Given the description of an element on the screen output the (x, y) to click on. 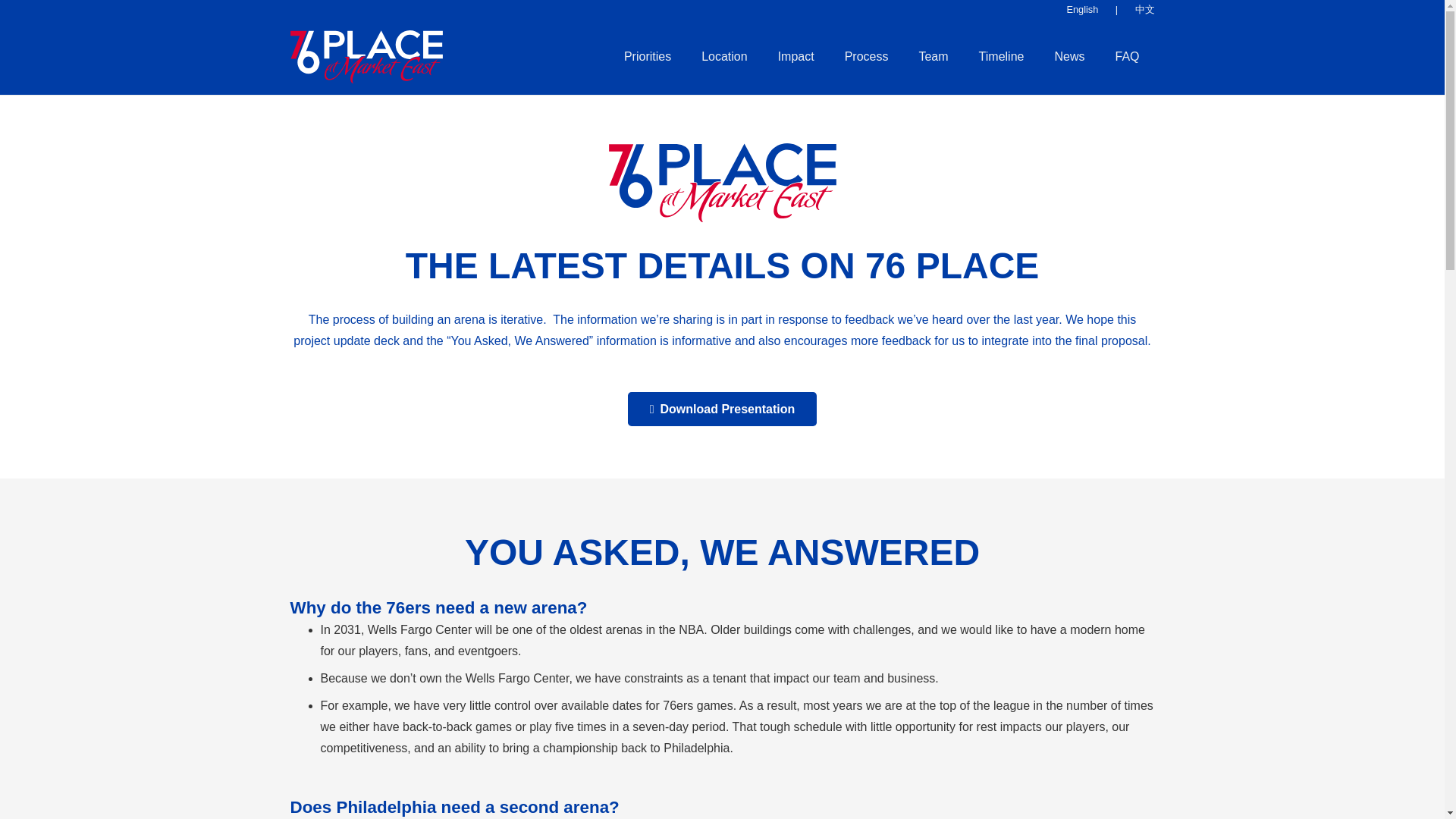
Location (723, 56)
Download Presentation (721, 408)
Priorities (646, 56)
Timeline (1001, 56)
Process (866, 56)
